Given the description of an element on the screen output the (x, y) to click on. 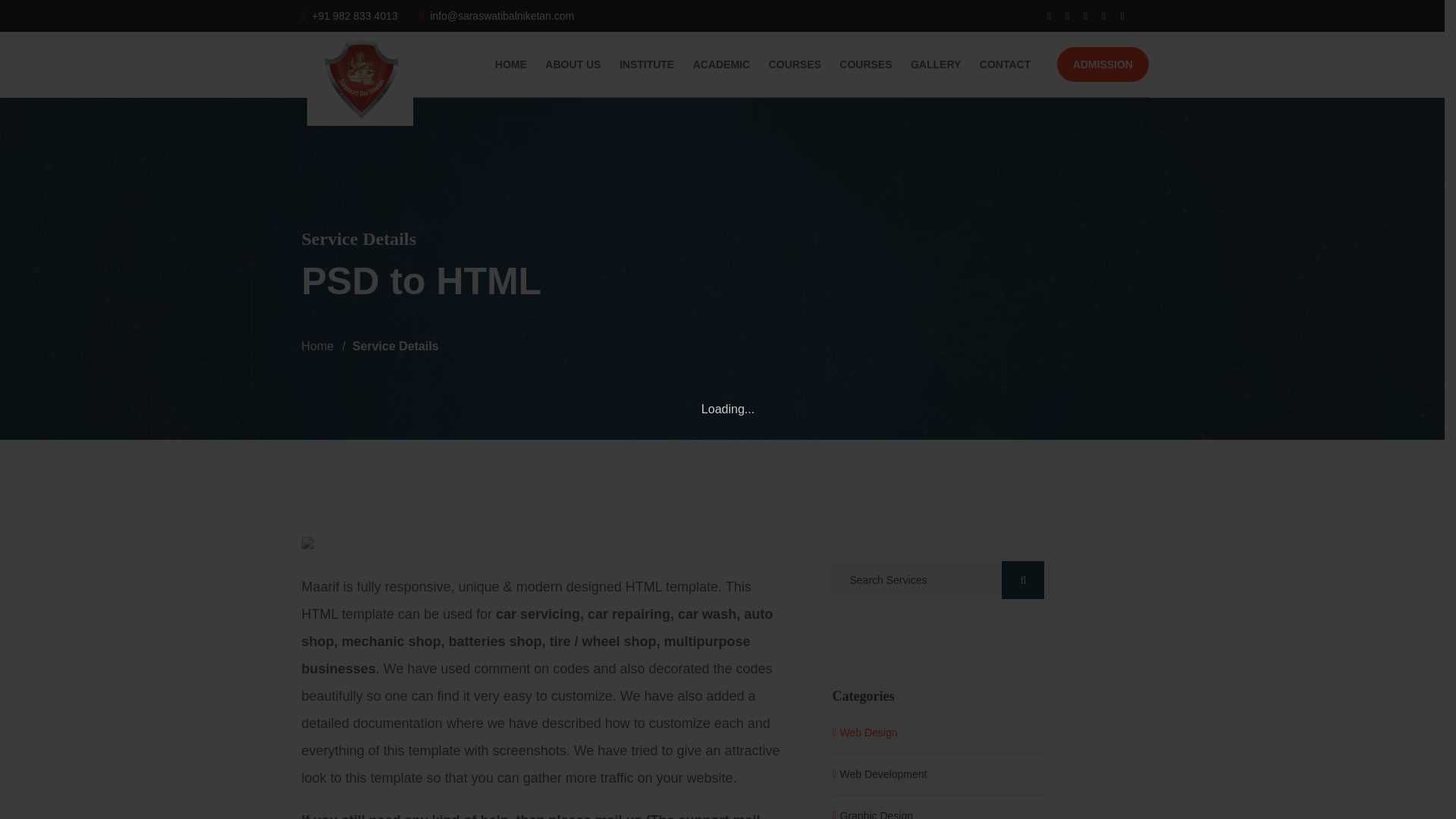
HOME (510, 64)
